Given the description of an element on the screen output the (x, y) to click on. 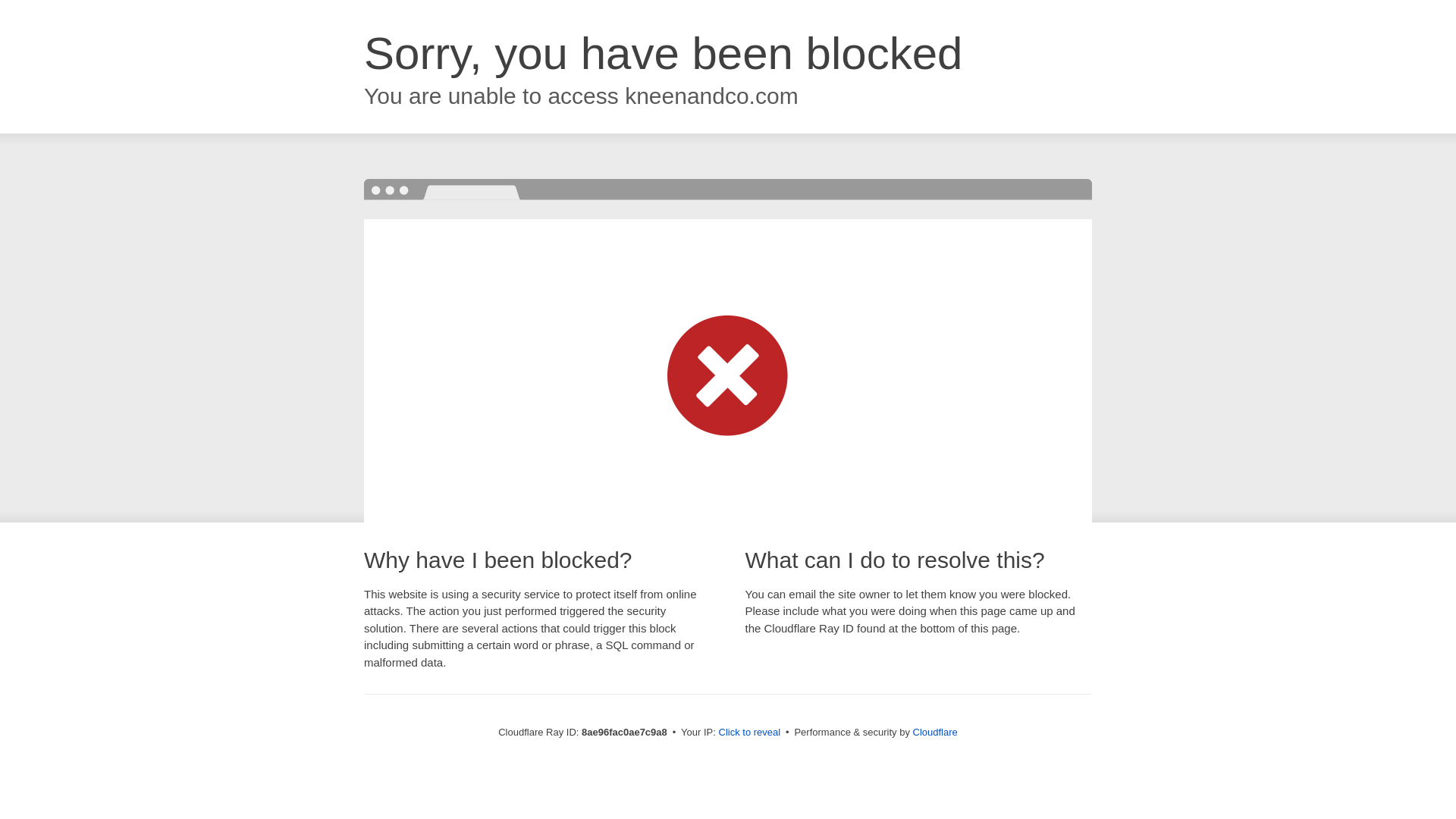
Cloudflare (935, 731)
Click to reveal (749, 732)
